Given the description of an element on the screen output the (x, y) to click on. 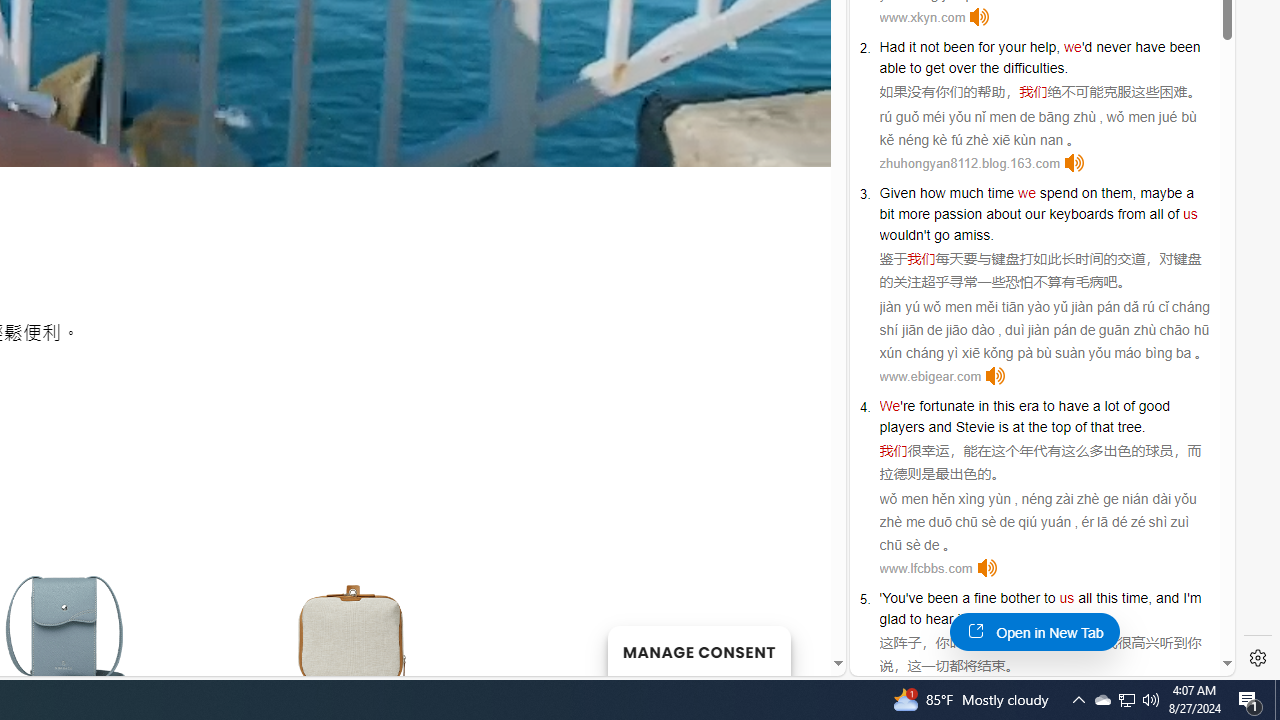
spend (1058, 192)
You (893, 597)
in (983, 405)
glad (892, 619)
stop (1044, 619)
going (994, 619)
keyboards (1081, 213)
this (1106, 597)
